Given the description of an element on the screen output the (x, y) to click on. 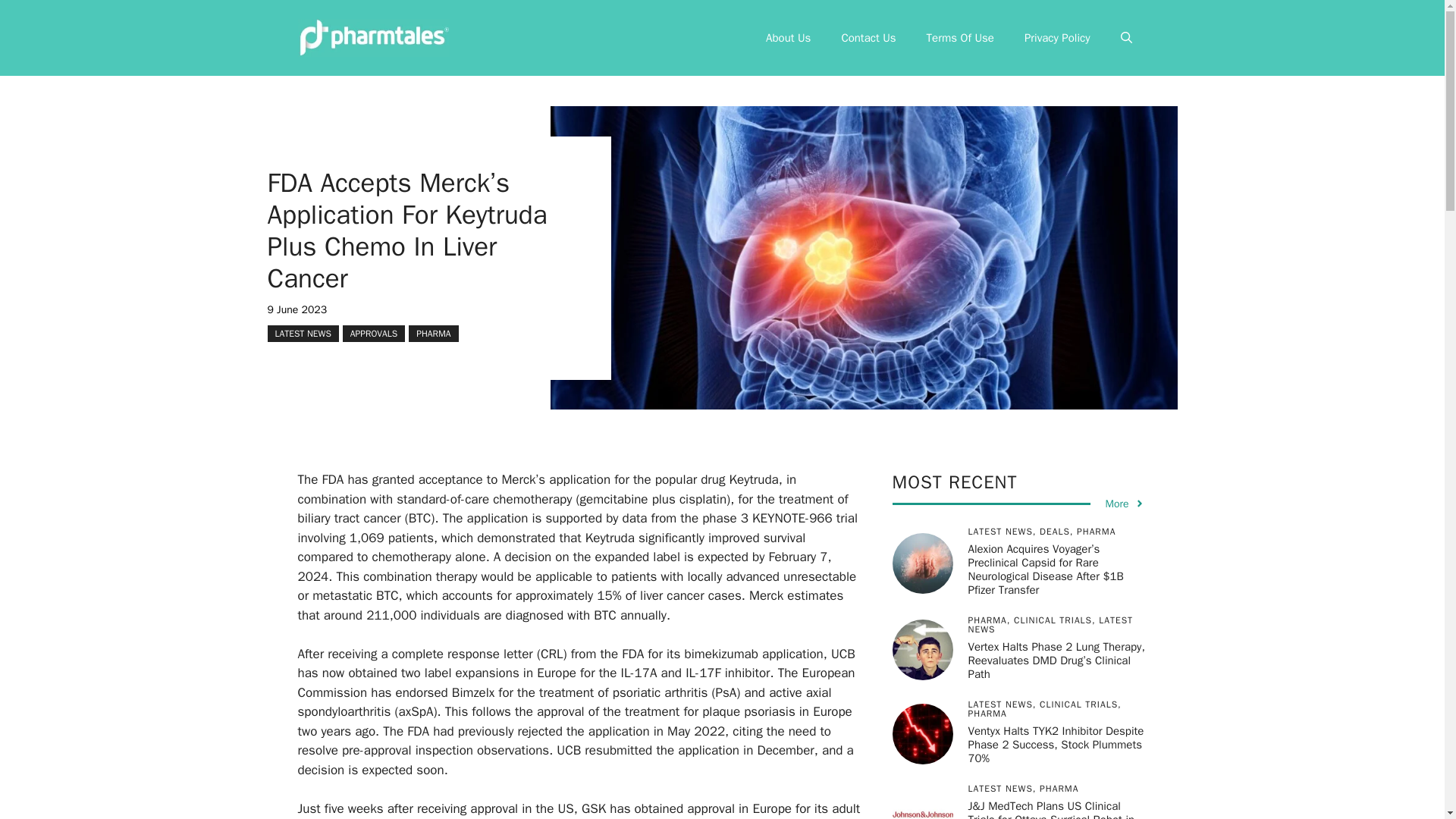
Privacy Policy (1057, 37)
APPROVALS (373, 332)
About Us (788, 37)
PHARMA (433, 332)
Contact Us (868, 37)
LATEST NEWS (301, 332)
Terms Of Use (960, 37)
